Given the description of an element on the screen output the (x, y) to click on. 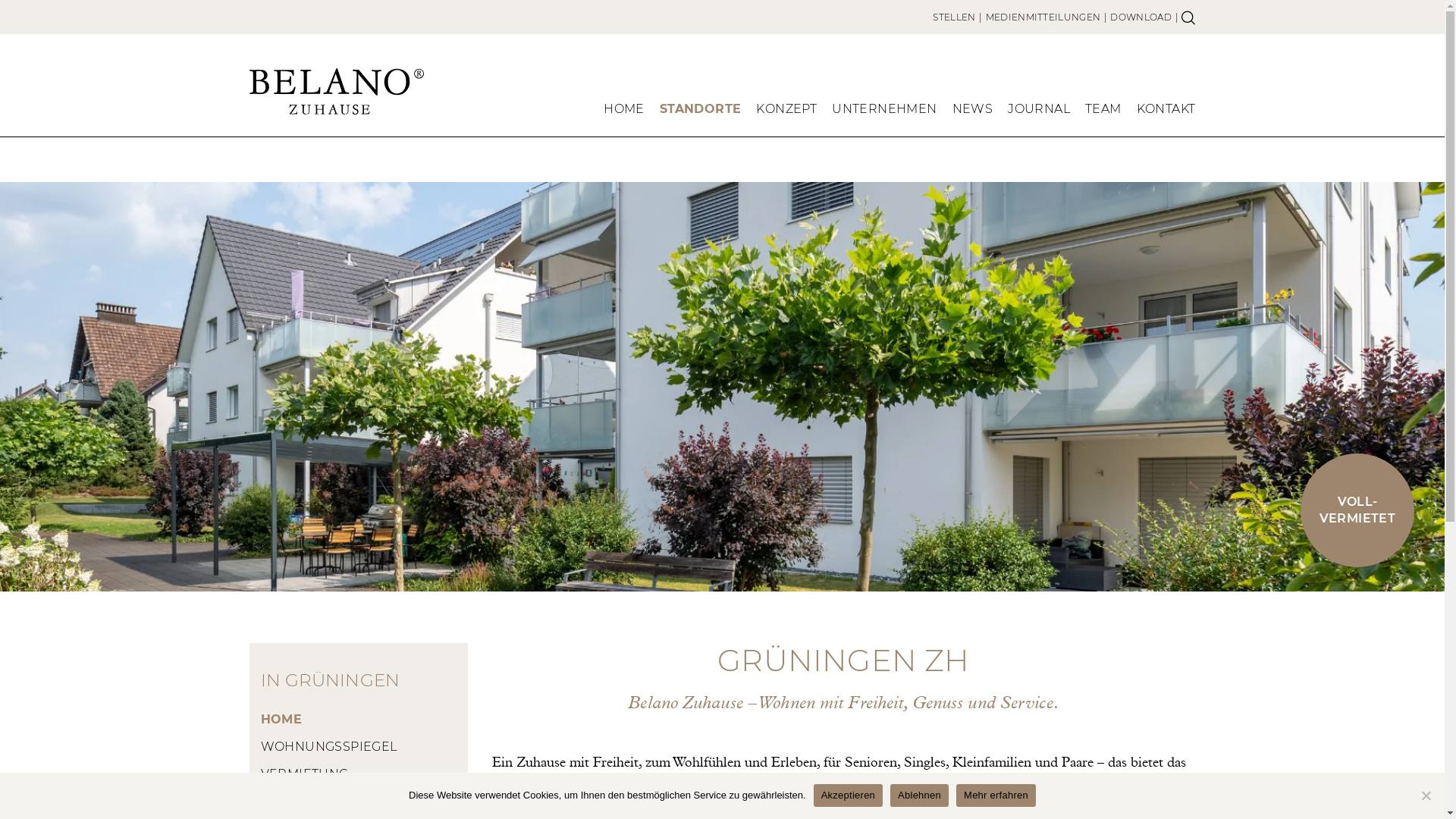
DOWNLOAD Element type: text (1140, 16)
Ablehnen Element type: text (919, 795)
Mehr erfahren Element type: text (995, 795)
VERMIETUNG Element type: text (358, 773)
TEAM Element type: text (1103, 111)
KONZEPT Element type: text (786, 111)
JOURNAL Element type: text (1038, 111)
Ablehnen Element type: hover (1425, 795)
UNTERNEHMEN Element type: text (883, 111)
NEWS Element type: text (972, 111)
MEDIENMITTEILUNGEN Element type: text (1042, 16)
HOME Element type: text (358, 719)
Suche Element type: hover (1188, 16)
VOLL-
VERMIETET Element type: text (1357, 510)
Akzeptieren Element type: text (847, 795)
WOHNUNGSSPIEGEL Element type: text (358, 746)
HOME Element type: text (623, 111)
MUSTERWOHNUNG Element type: text (358, 801)
KONTAKT Element type: text (1165, 111)
STANDORTE Element type: text (700, 111)
STELLEN Element type: text (953, 16)
